Given the description of an element on the screen output the (x, y) to click on. 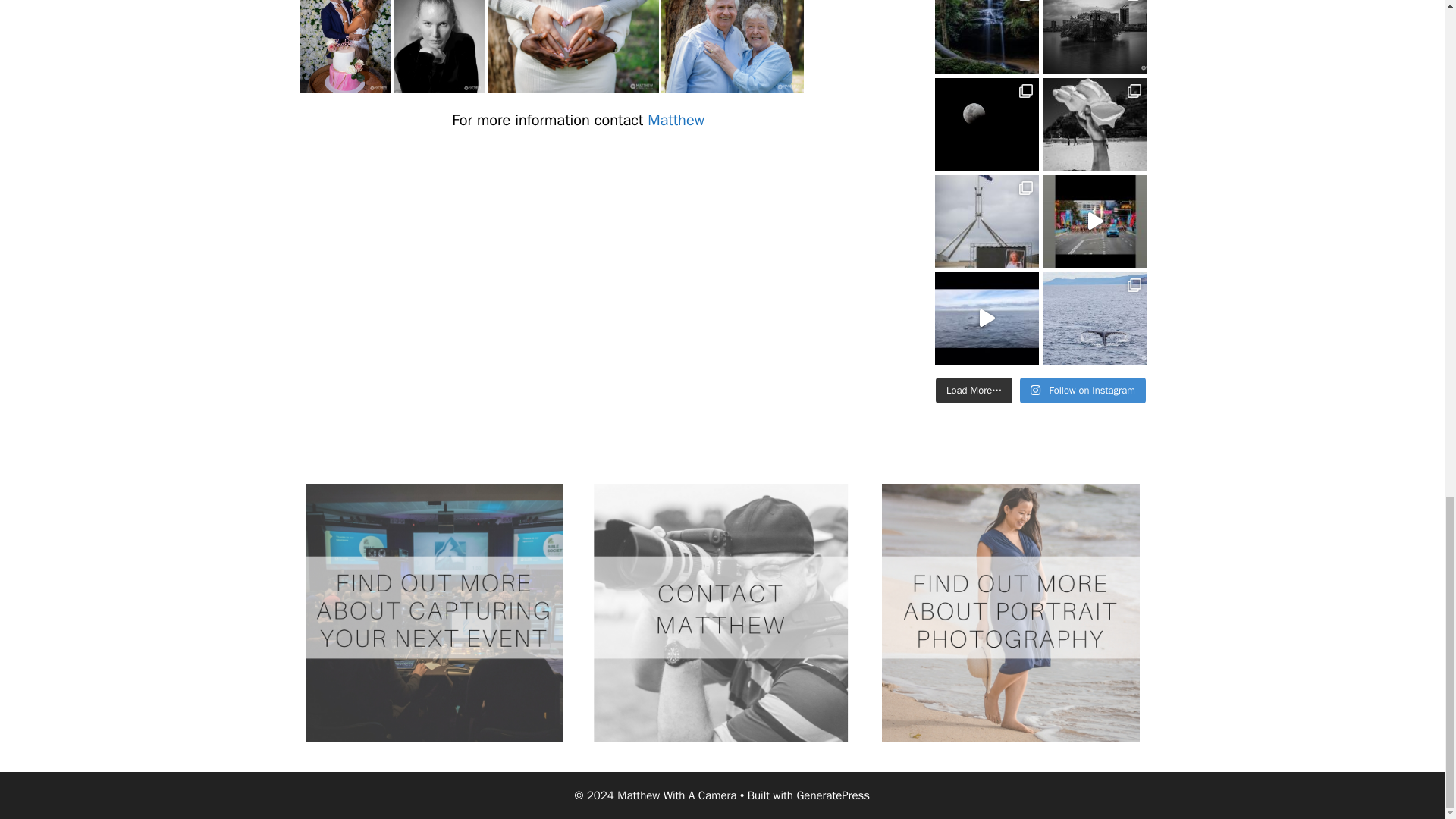
Matthew (675, 119)
Family Portrait Photography (572, 46)
Contact Matthew (721, 613)
Family Event Photography (344, 46)
Corporate Photography Book Today (433, 613)
Family Portrait Photography (732, 46)
Corporate Profile Portraits (438, 46)
